Given the description of an element on the screen output the (x, y) to click on. 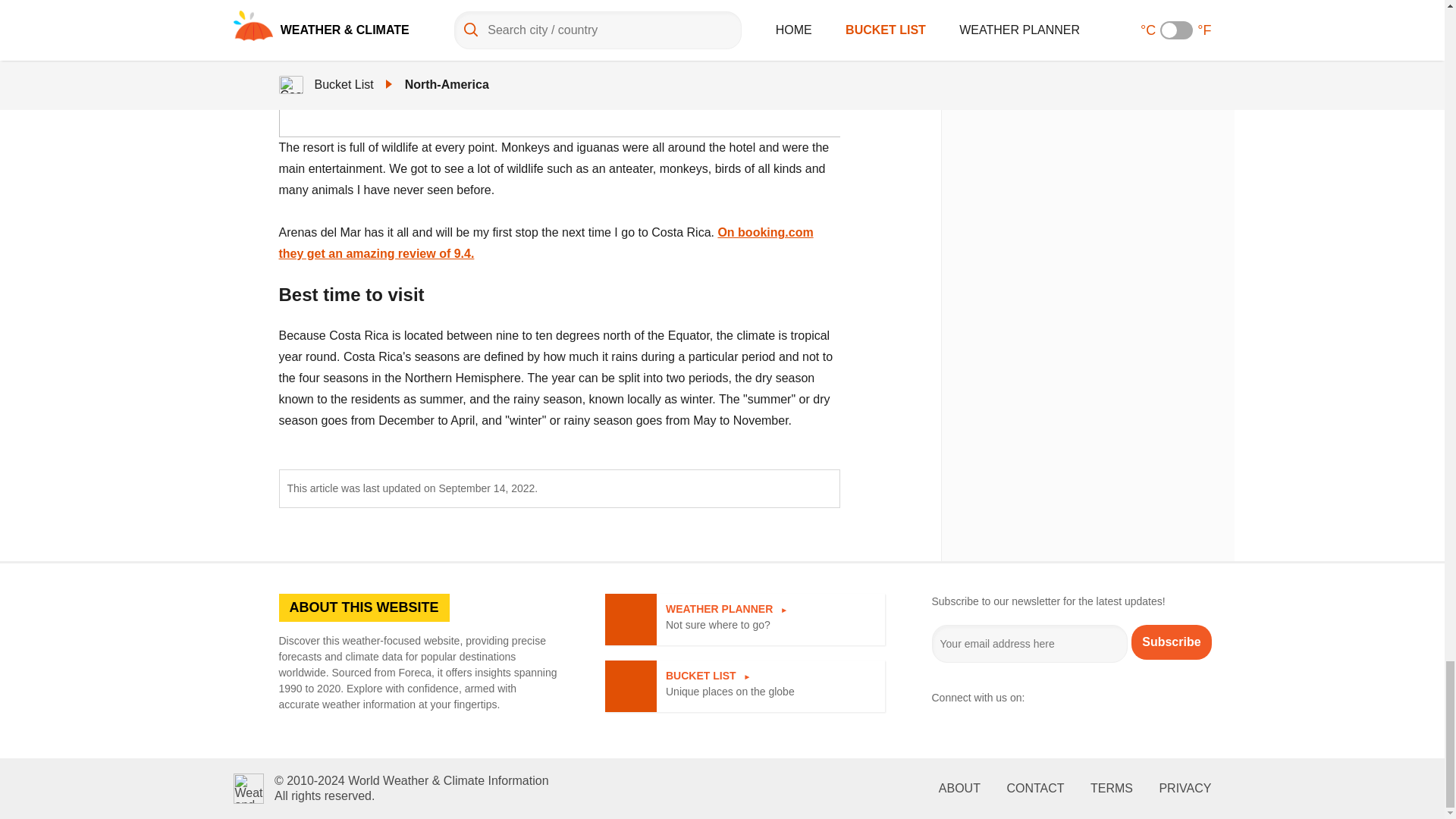
PRIVACY (1184, 788)
Instagram (745, 619)
Weather and climate homepage (1096, 697)
On booking.com they get an amazing review of 9.4. (247, 788)
Subscribe (546, 243)
CONTACT (1171, 642)
Facebook (1035, 788)
TERMS (1054, 697)
ABOUT (1111, 788)
Subscribe (959, 788)
